Given the description of an element on the screen output the (x, y) to click on. 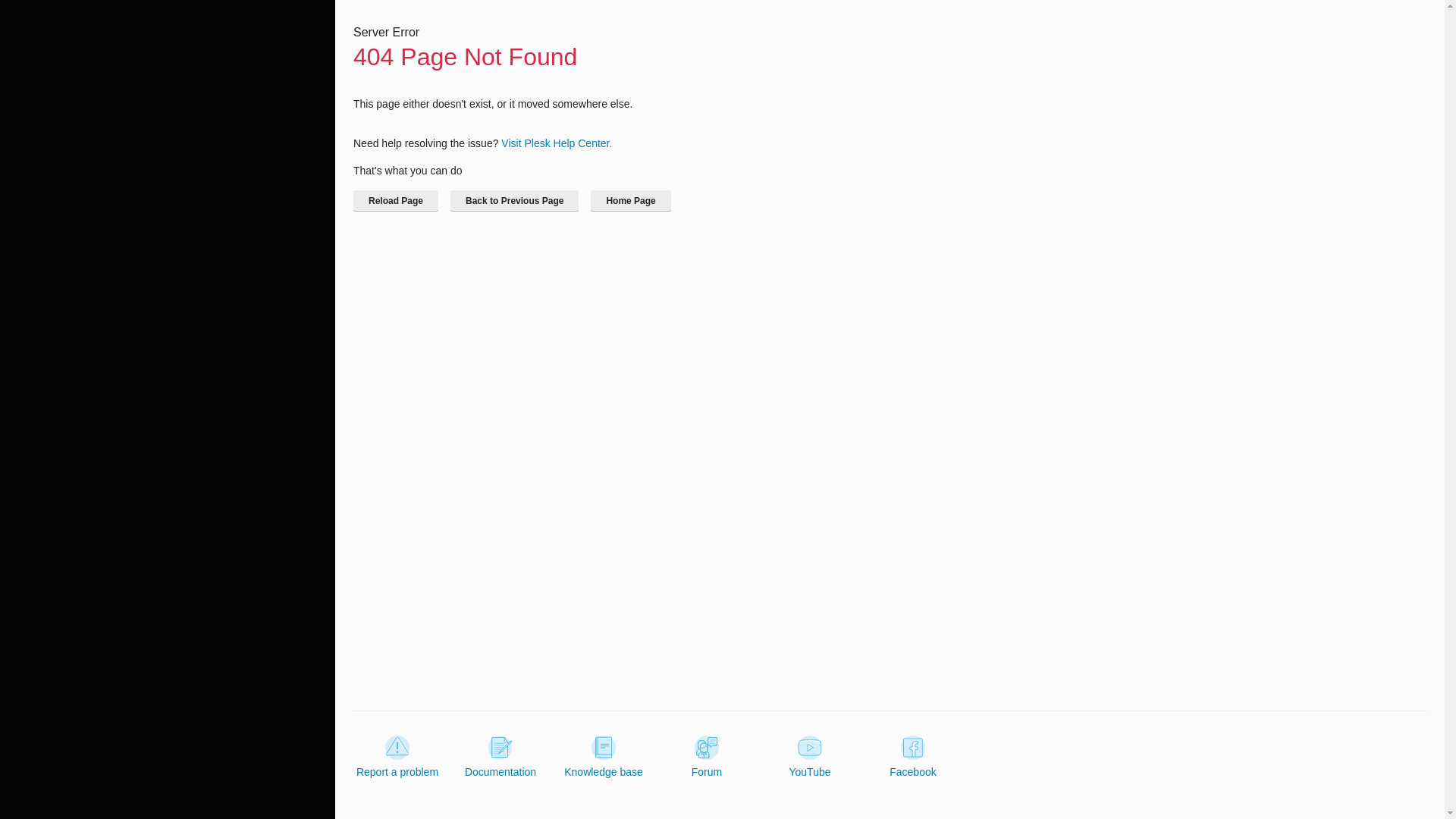
Knowledge base (603, 757)
Home Page (630, 200)
Documentation (500, 757)
Forum (706, 757)
Visit Plesk Help Center. (555, 143)
Report a problem (397, 757)
Back to Previous Page (513, 200)
YouTube (809, 757)
Facebook (912, 757)
Reload Page (395, 200)
